Given the description of an element on the screen output the (x, y) to click on. 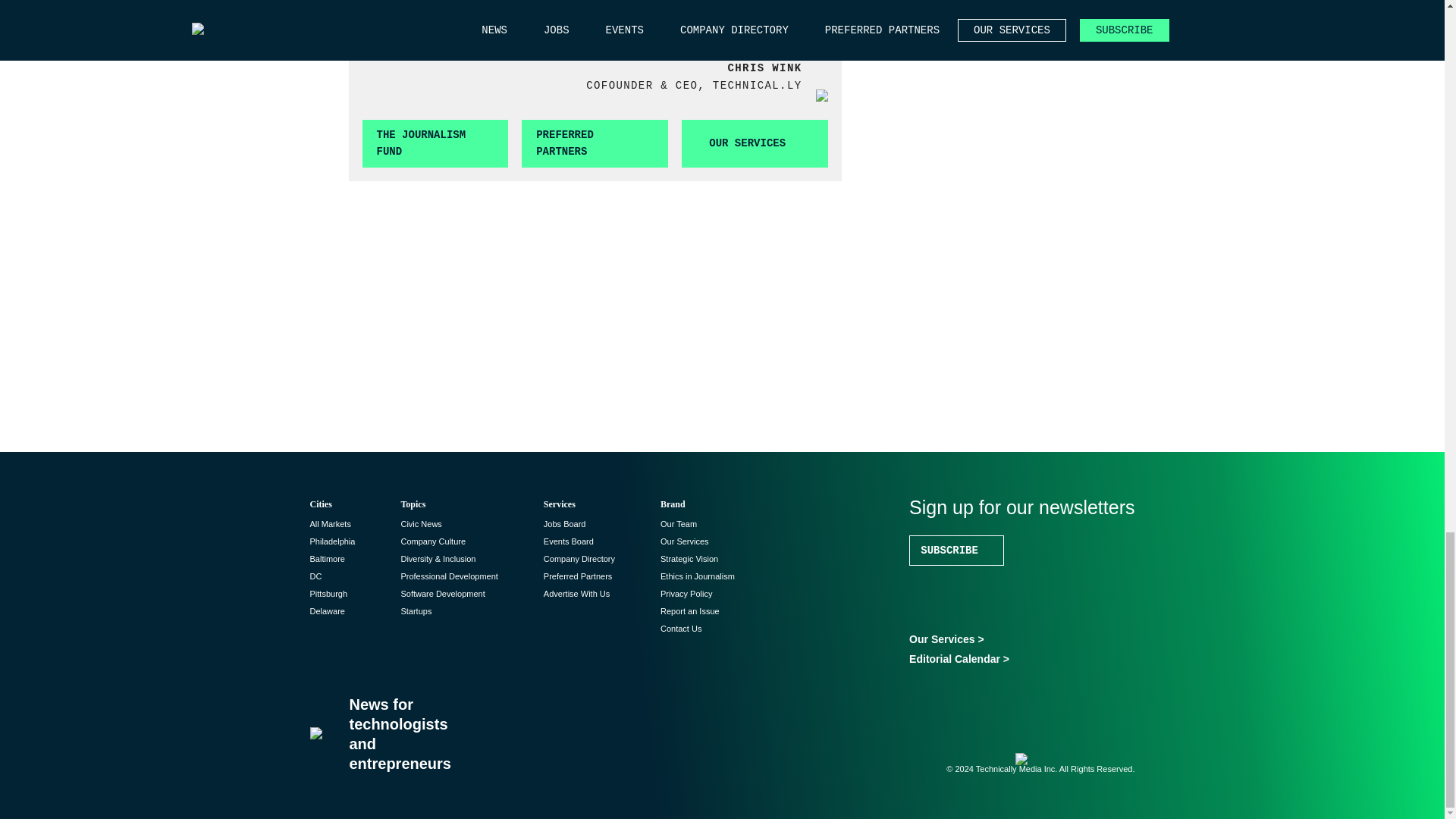
OUR SERVICES (754, 143)
help companies tell their stories (591, 20)
Delaware (325, 610)
Philadelphia (331, 541)
All Markets (329, 523)
Baltimore (325, 558)
PREFERRED PARTNERS (594, 143)
Civic News (420, 523)
Pittsburgh (327, 593)
THE JOURNALISM FUND (435, 143)
